Given the description of an element on the screen output the (x, y) to click on. 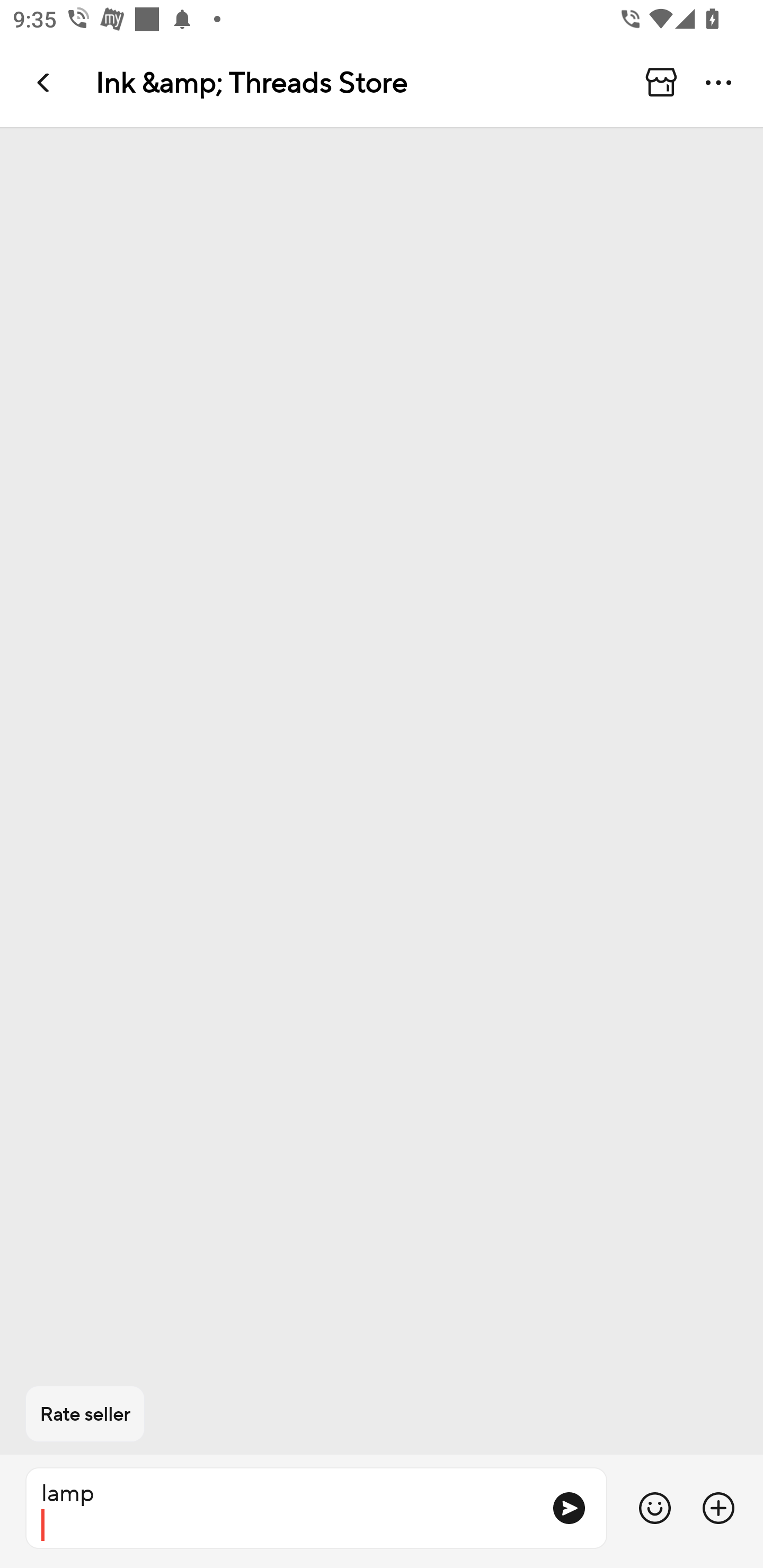
Navigate up (44, 82)
Rate seller (84, 1414)
lamp
 (281, 1508)
